Given the description of an element on the screen output the (x, y) to click on. 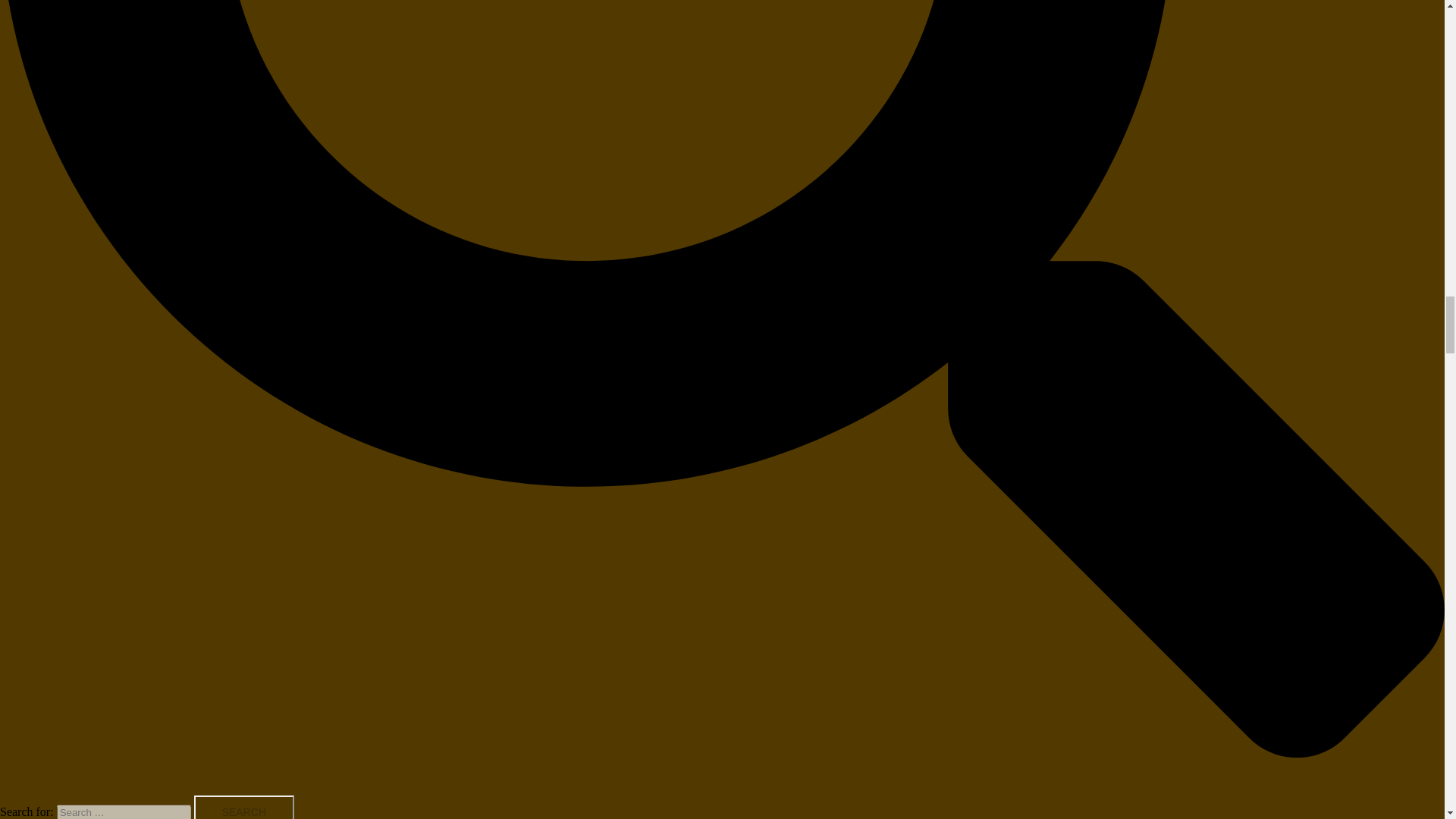
Search (243, 807)
Search (243, 807)
Search (243, 807)
